Given the description of an element on the screen output the (x, y) to click on. 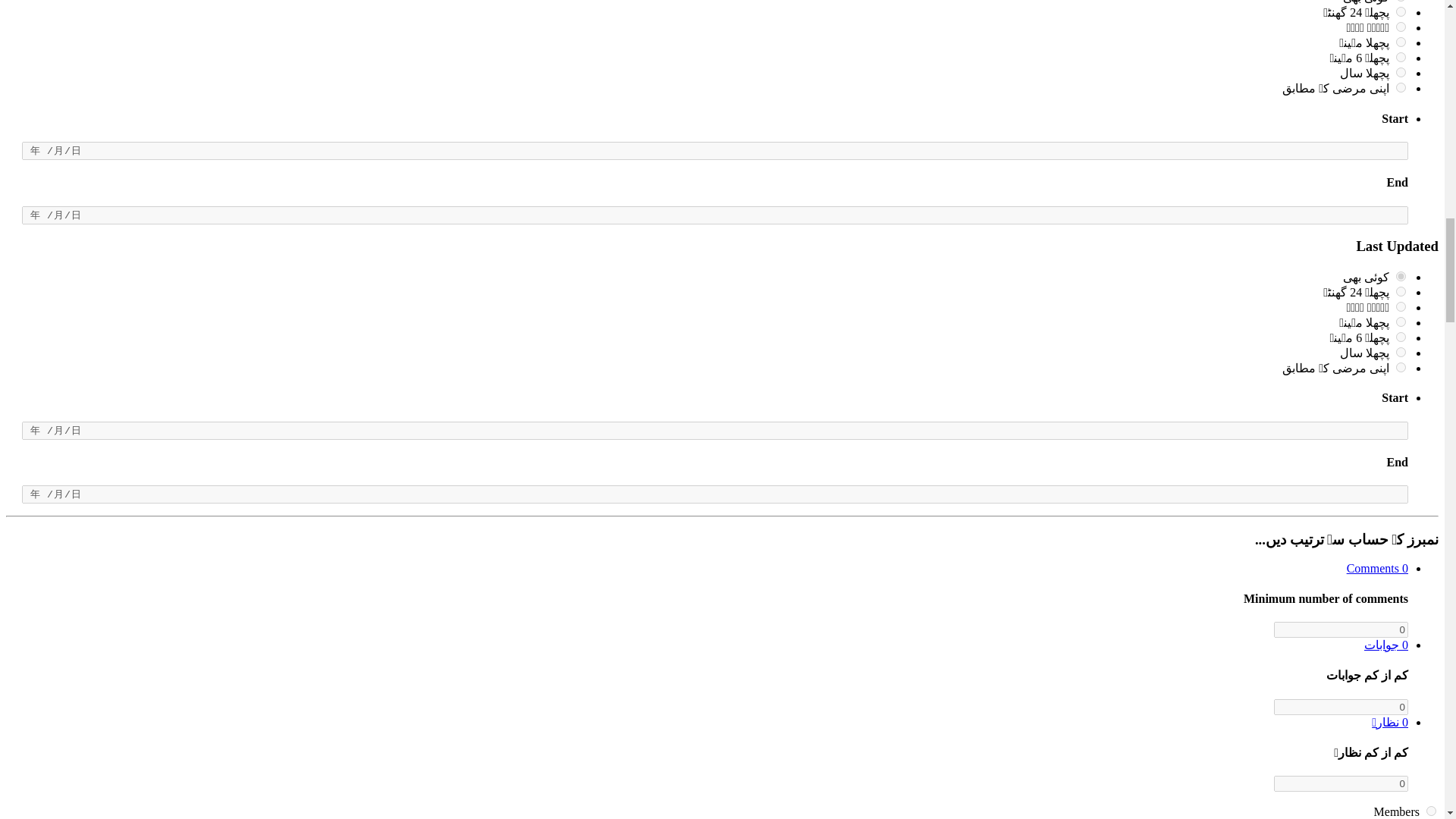
custom (1401, 87)
month (1401, 41)
week (1401, 26)
day (1401, 11)
year (1401, 71)
